Given the description of an element on the screen output the (x, y) to click on. 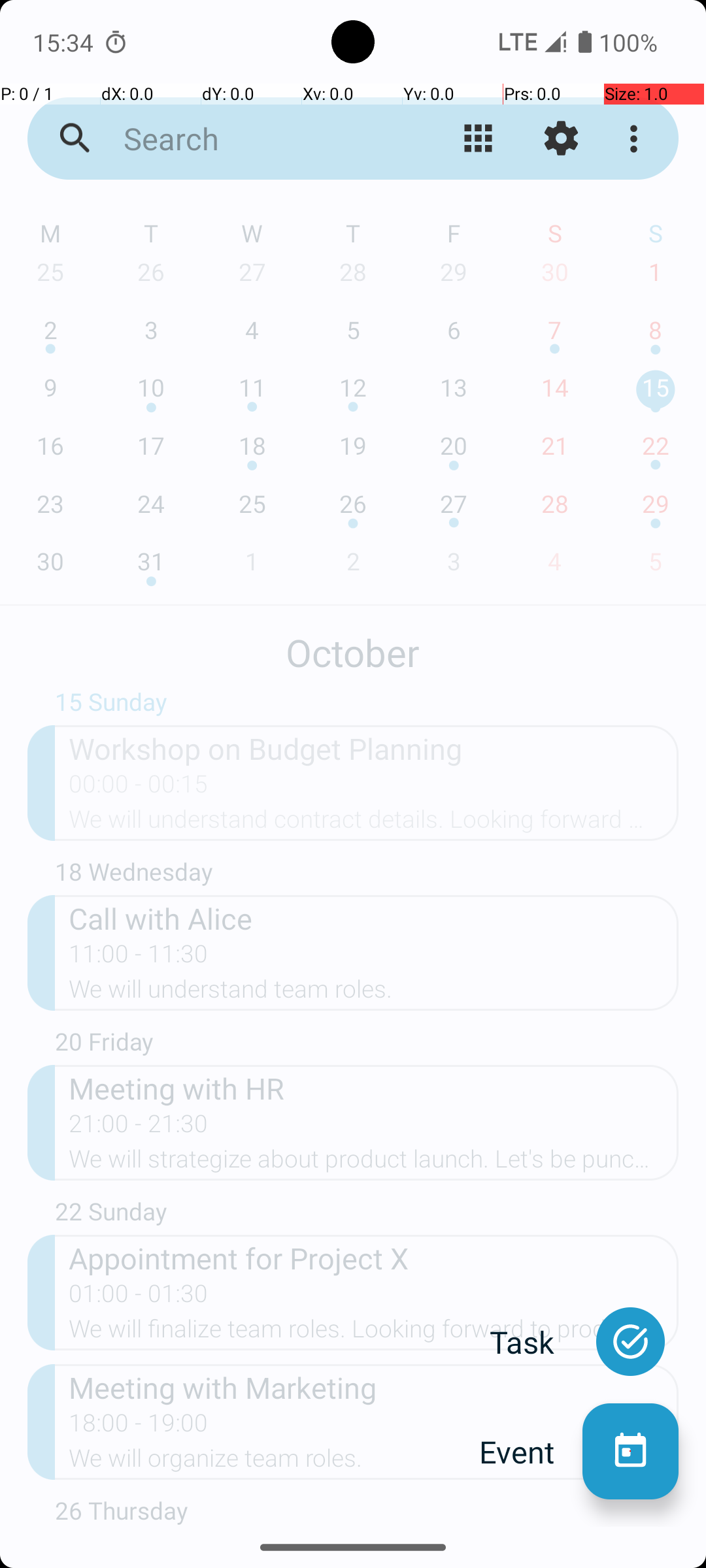
22 Sunday Element type: android.widget.TextView (366, 1214)
26 Thursday Element type: android.widget.TextView (366, 1509)
00:00 - 00:15 Element type: android.widget.TextView (137, 787)
We will understand contract details. Looking forward to productive discussions. Element type: android.widget.TextView (373, 822)
11:00 - 11:30 Element type: android.widget.TextView (137, 957)
We will understand team roles. Element type: android.widget.TextView (373, 992)
21:00 - 21:30 Element type: android.widget.TextView (137, 1127)
We will strategize about product launch. Let's be punctual. Element type: android.widget.TextView (373, 1162)
01:00 - 01:30 Element type: android.widget.TextView (137, 1297)
We will finalize team roles. Looking forward to productive discussions. Element type: android.widget.TextView (373, 1332)
18:00 - 19:00 Element type: android.widget.TextView (137, 1426)
We will organize team roles. Element type: android.widget.TextView (373, 1461)
